Given the description of an element on the screen output the (x, y) to click on. 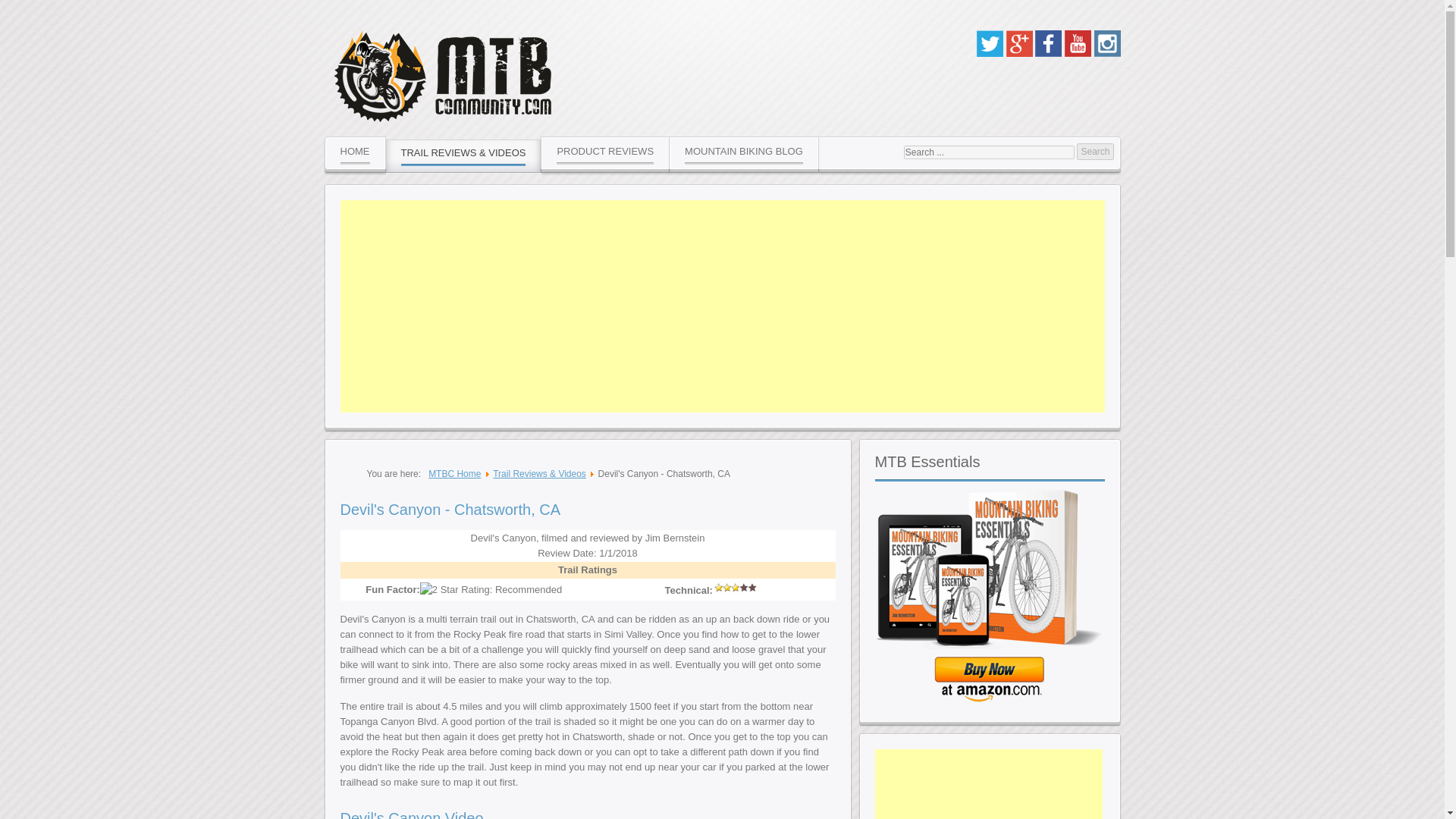
HOME (354, 152)
PRODUCT REVIEWS (604, 152)
